Given the description of an element on the screen output the (x, y) to click on. 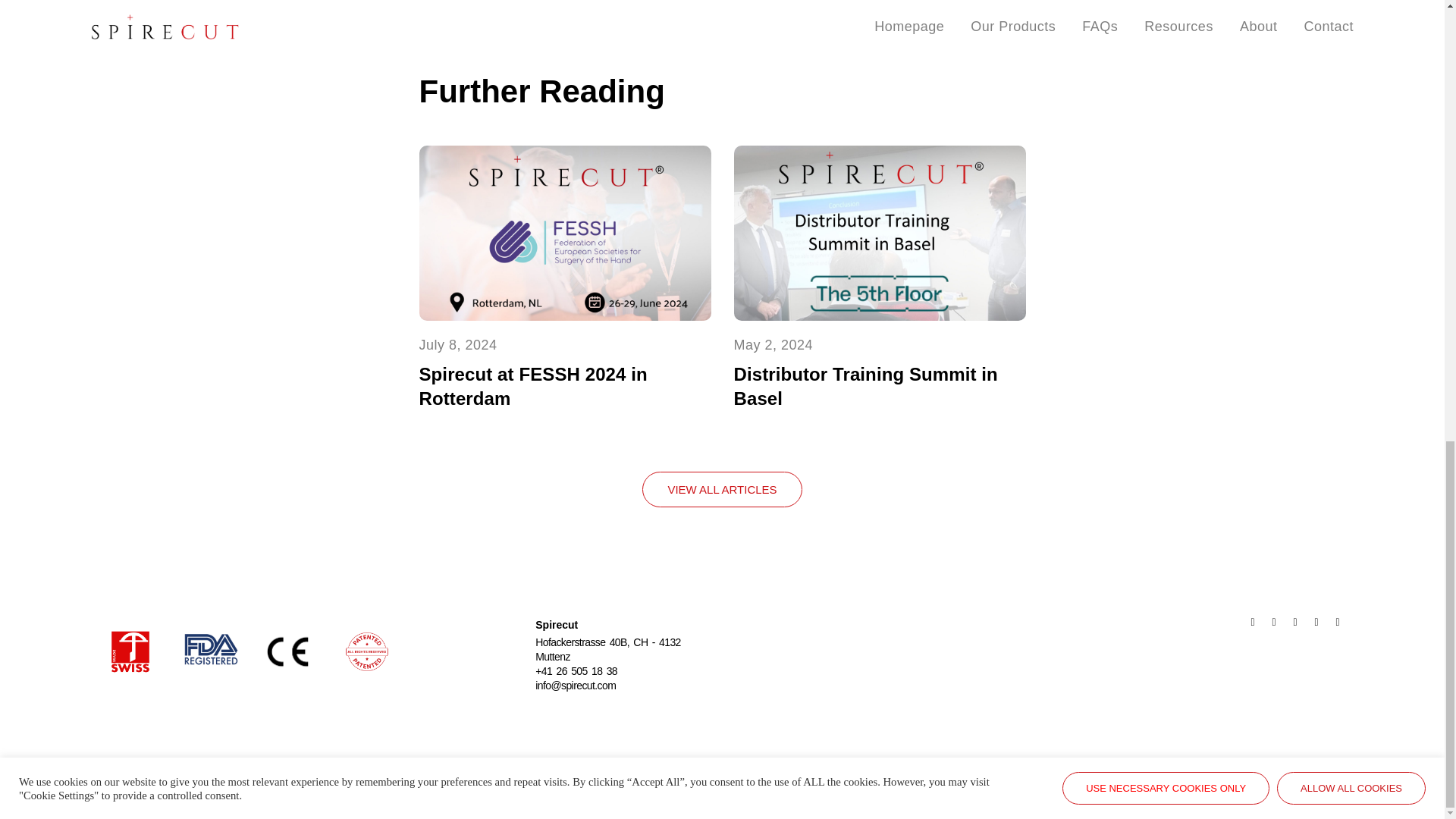
VIEW ALL ARTICLES (722, 488)
Distributor Training Summit in Basel (865, 385)
May 2, 2024 (773, 344)
Spirecut at FESSH 2024 in Rotterdam (532, 385)
July 8, 2024 (457, 344)
